Given the description of an element on the screen output the (x, y) to click on. 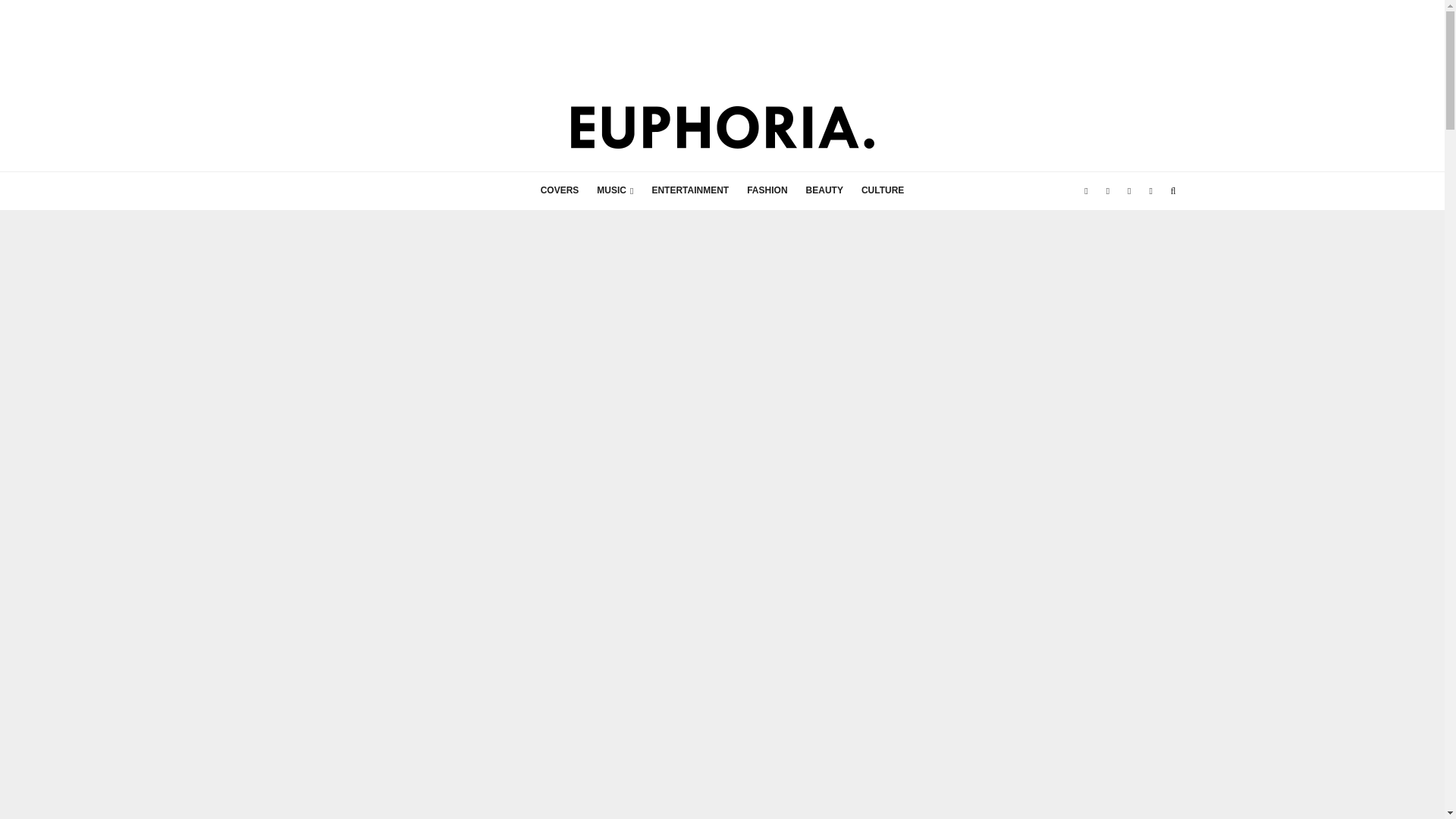
COVERS (559, 190)
ENTERTAINMENT (690, 190)
MUSIC (615, 190)
FASHION (767, 190)
CULTURE (881, 190)
BEAUTY (823, 190)
